Given the description of an element on the screen output the (x, y) to click on. 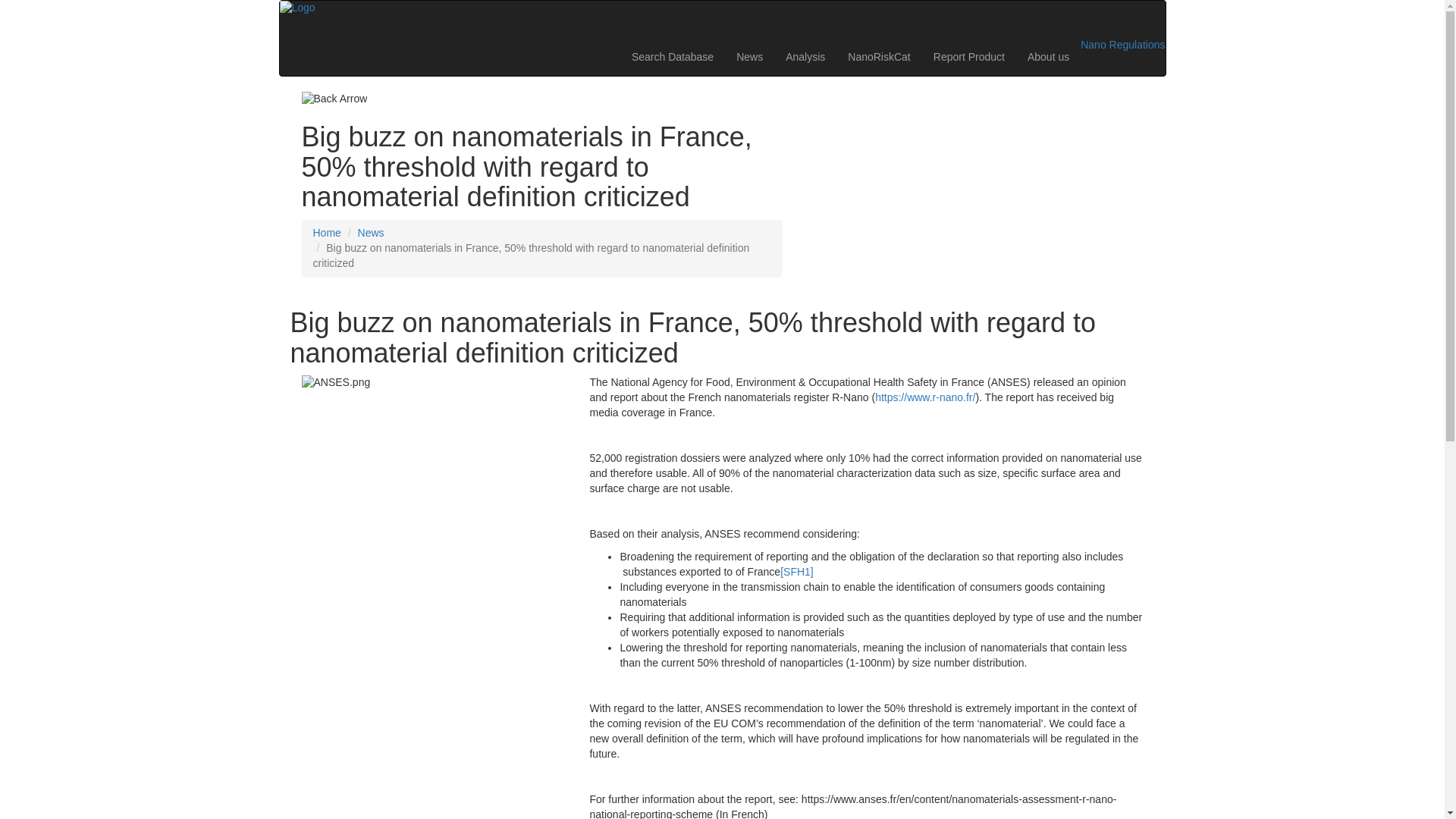
NanoRiskCat (878, 56)
Login (1073, 18)
Nano Regulations (1122, 44)
English (1138, 18)
News (749, 56)
Analysis (804, 56)
Report Product (968, 56)
About us (1048, 56)
Home (326, 232)
Search Database (672, 56)
